Given the description of an element on the screen output the (x, y) to click on. 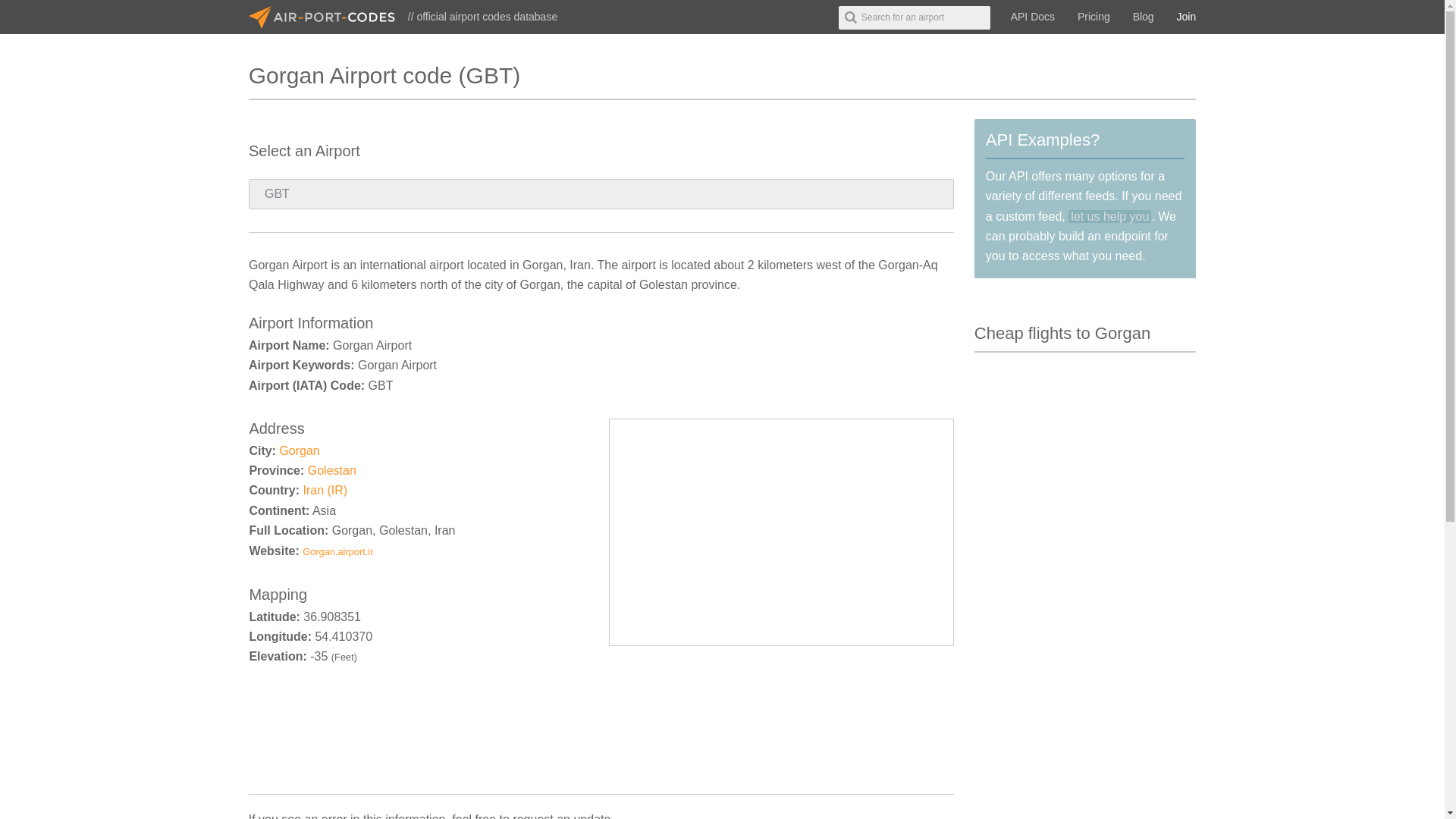
Join (1187, 17)
Airport Codes (327, 16)
Blog (1142, 17)
Gorgan (298, 450)
Iran Airports (324, 490)
Gorgan.airport.ir (337, 551)
Air-Port-Codes (327, 16)
Gorgan Airports (298, 450)
API Docs (1032, 17)
let us help you (1109, 215)
